Given the description of an element on the screen output the (x, y) to click on. 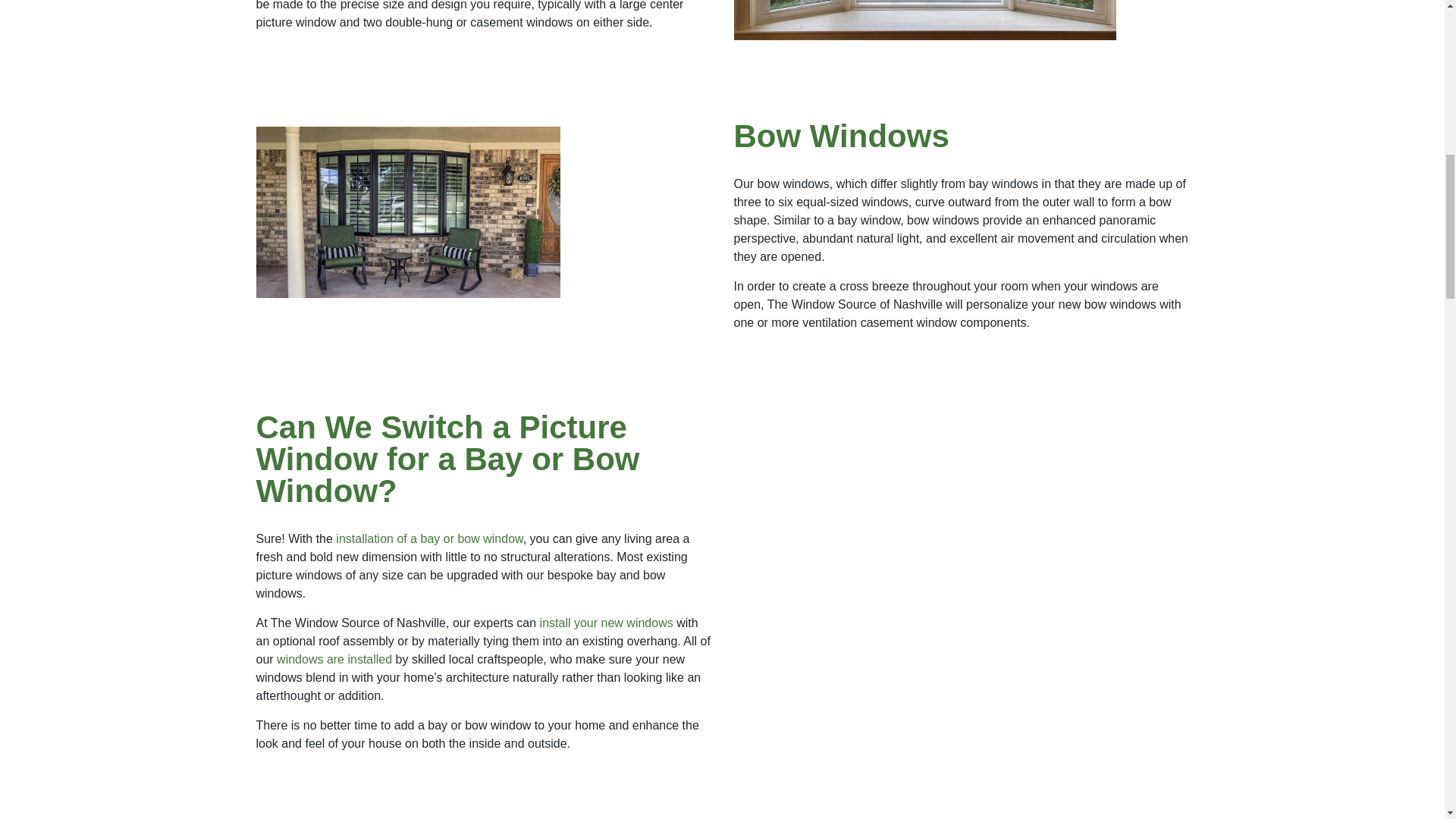
installation of a bay or bow window (429, 538)
windows are installed (333, 658)
install your new windows (606, 622)
